Given the description of an element on the screen output the (x, y) to click on. 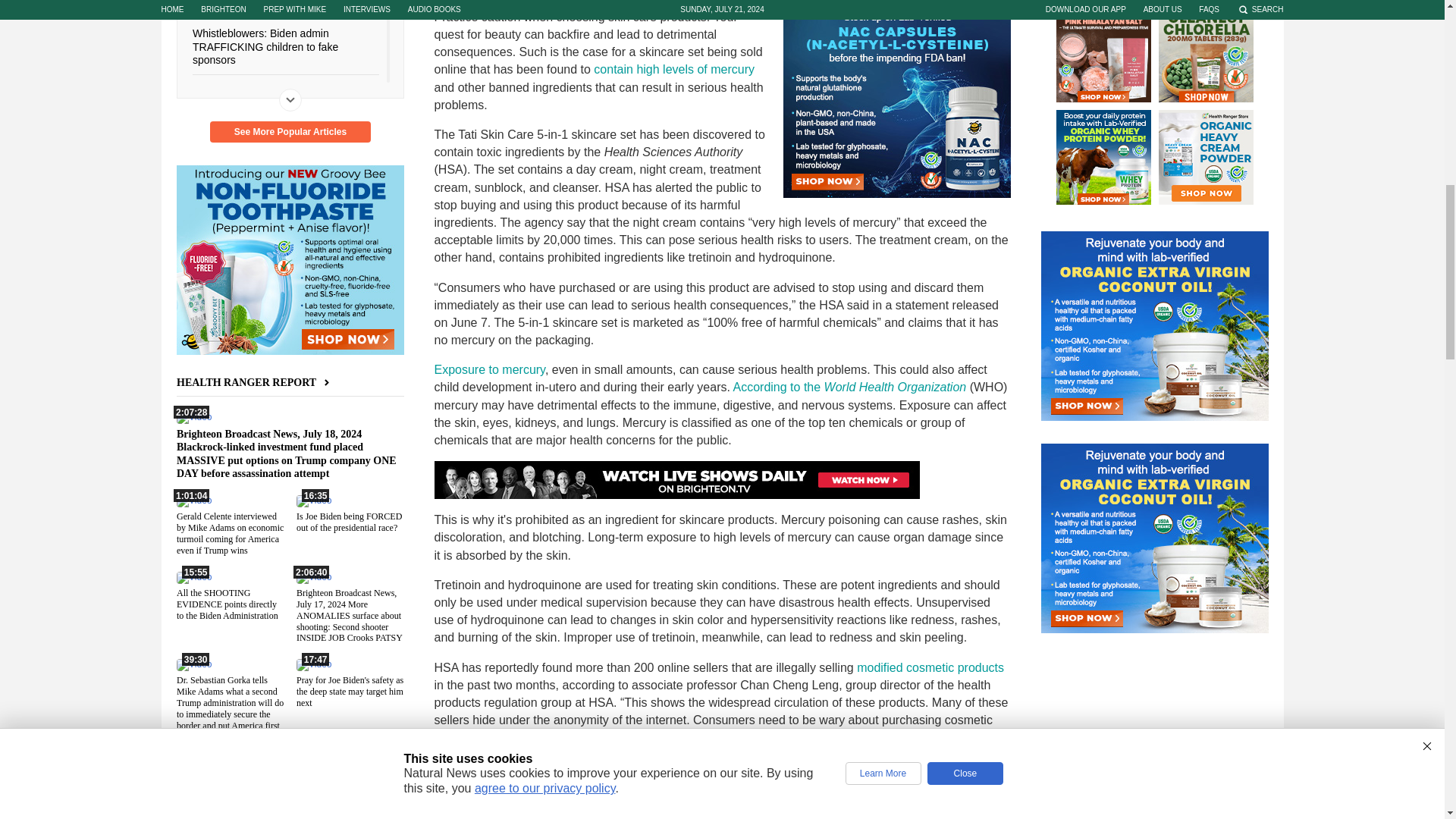
Scroll Down (290, 99)
